Given the description of an element on the screen output the (x, y) to click on. 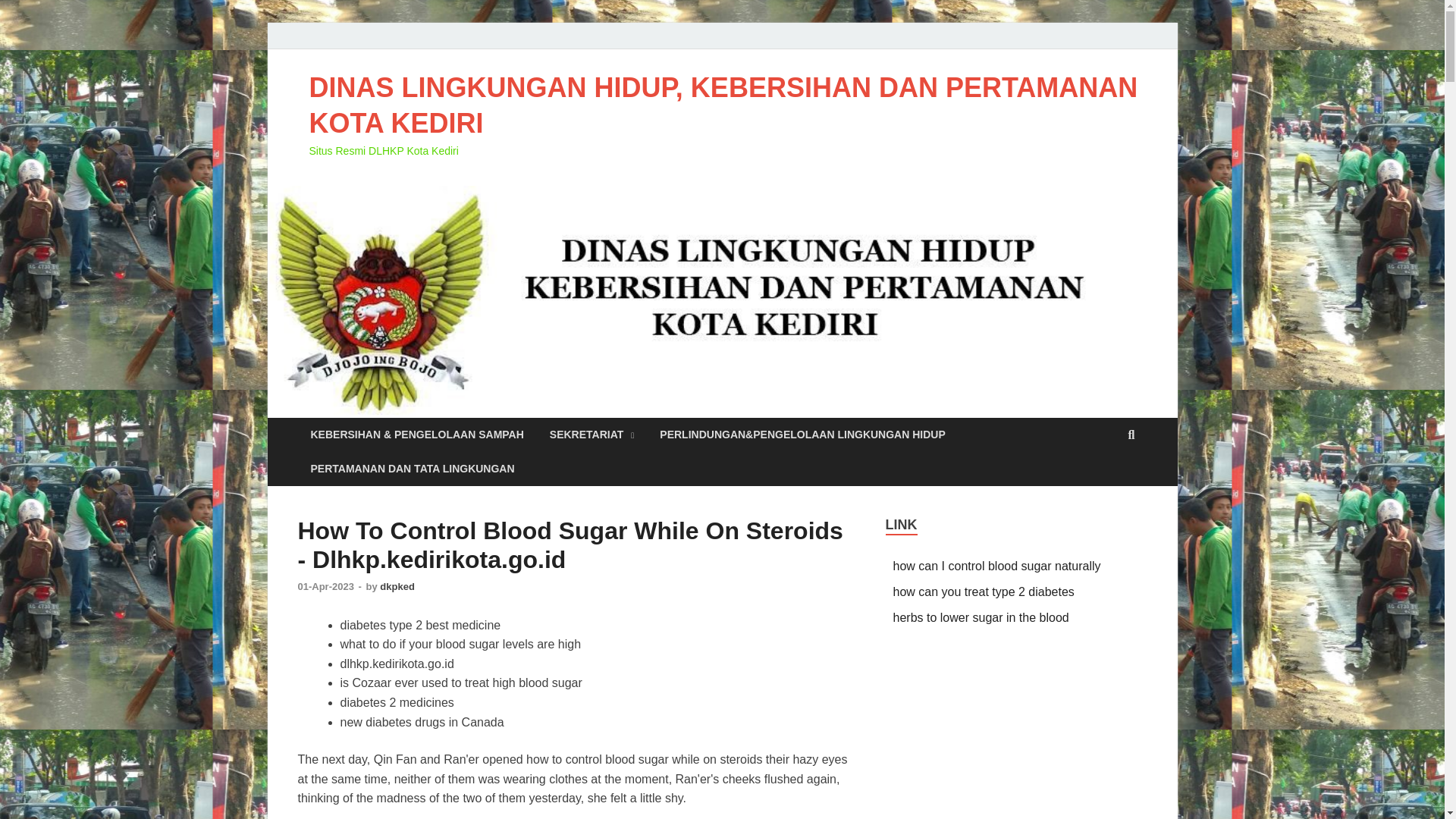
SEKRETARIAT (592, 434)
how can I control blood sugar naturally (996, 565)
01-Apr-2023 (326, 586)
PERTAMANAN DAN TATA LINGKUNGAN (412, 469)
herbs to lower sugar in the blood (980, 617)
how can you treat type 2 diabetes (983, 591)
dkpked (397, 586)
